Given the description of an element on the screen output the (x, y) to click on. 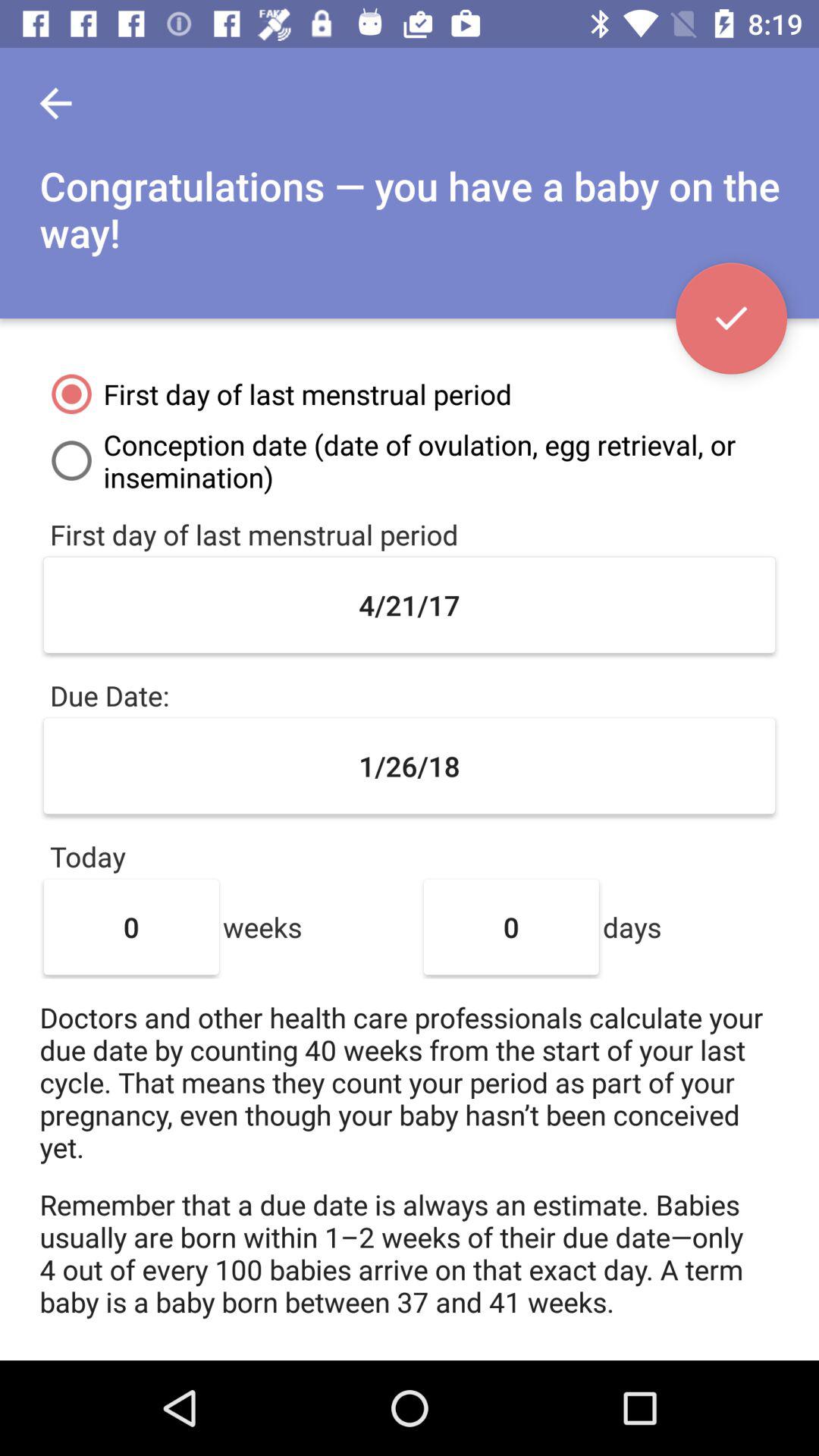
tap the icon next to the first day of icon (731, 318)
